Given the description of an element on the screen output the (x, y) to click on. 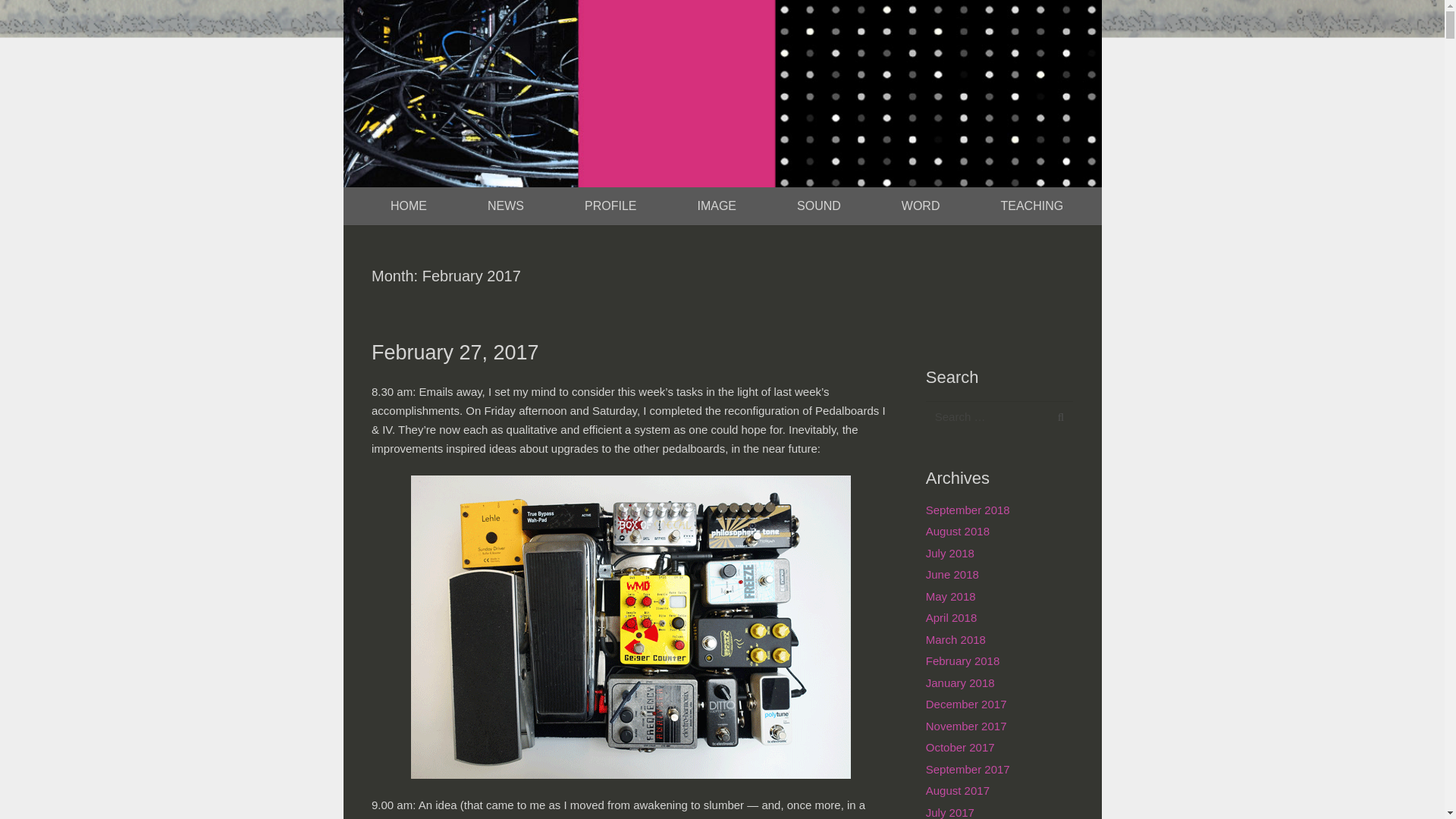
PROFILE (610, 206)
NEWS (505, 206)
SOUND (818, 206)
WORD (920, 206)
HOME (408, 206)
TEACHING (1031, 206)
February 27, 2017 (454, 352)
IMAGE (716, 206)
